Given the description of an element on the screen output the (x, y) to click on. 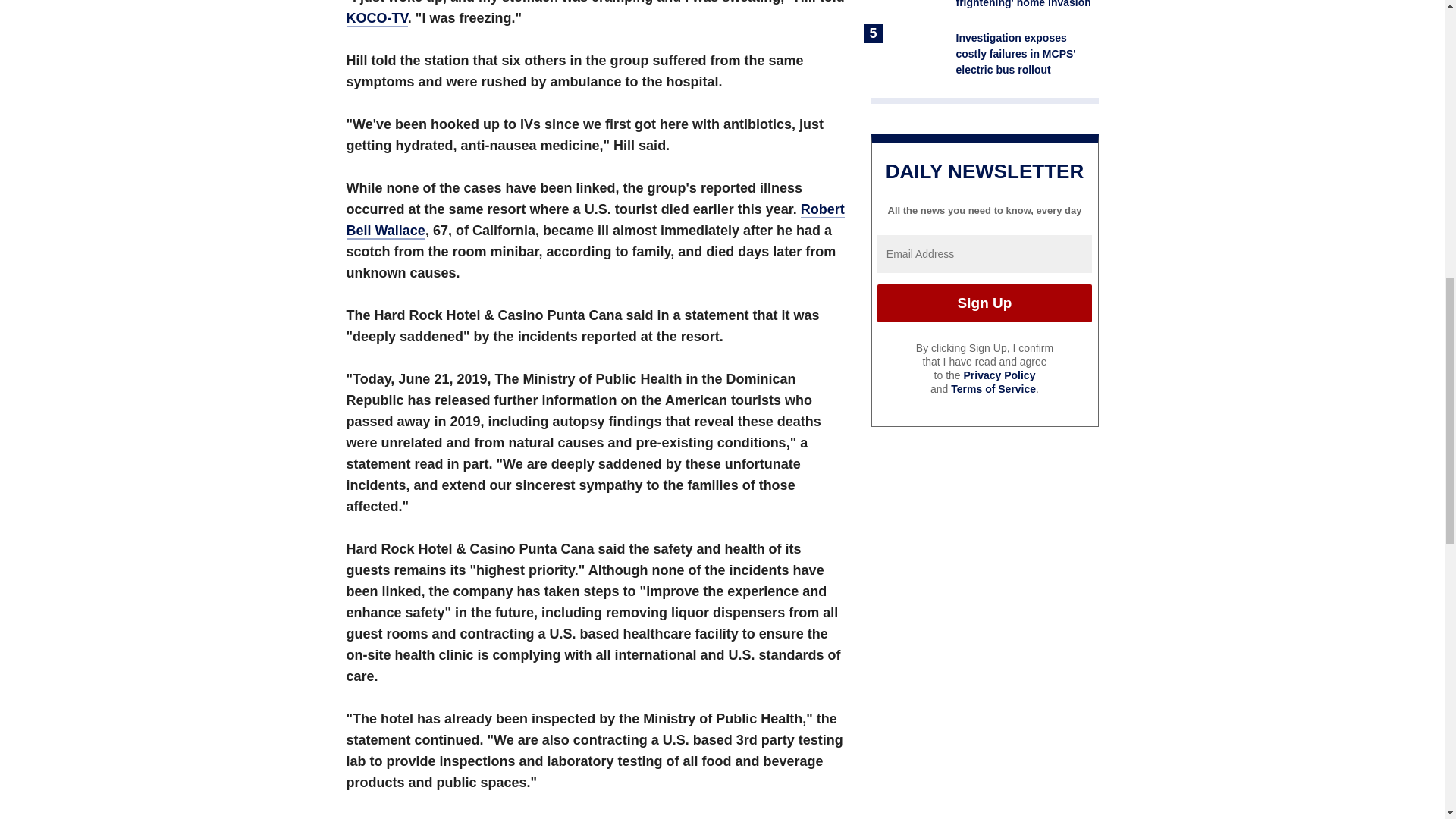
Sign Up (984, 303)
